Given the description of an element on the screen output the (x, y) to click on. 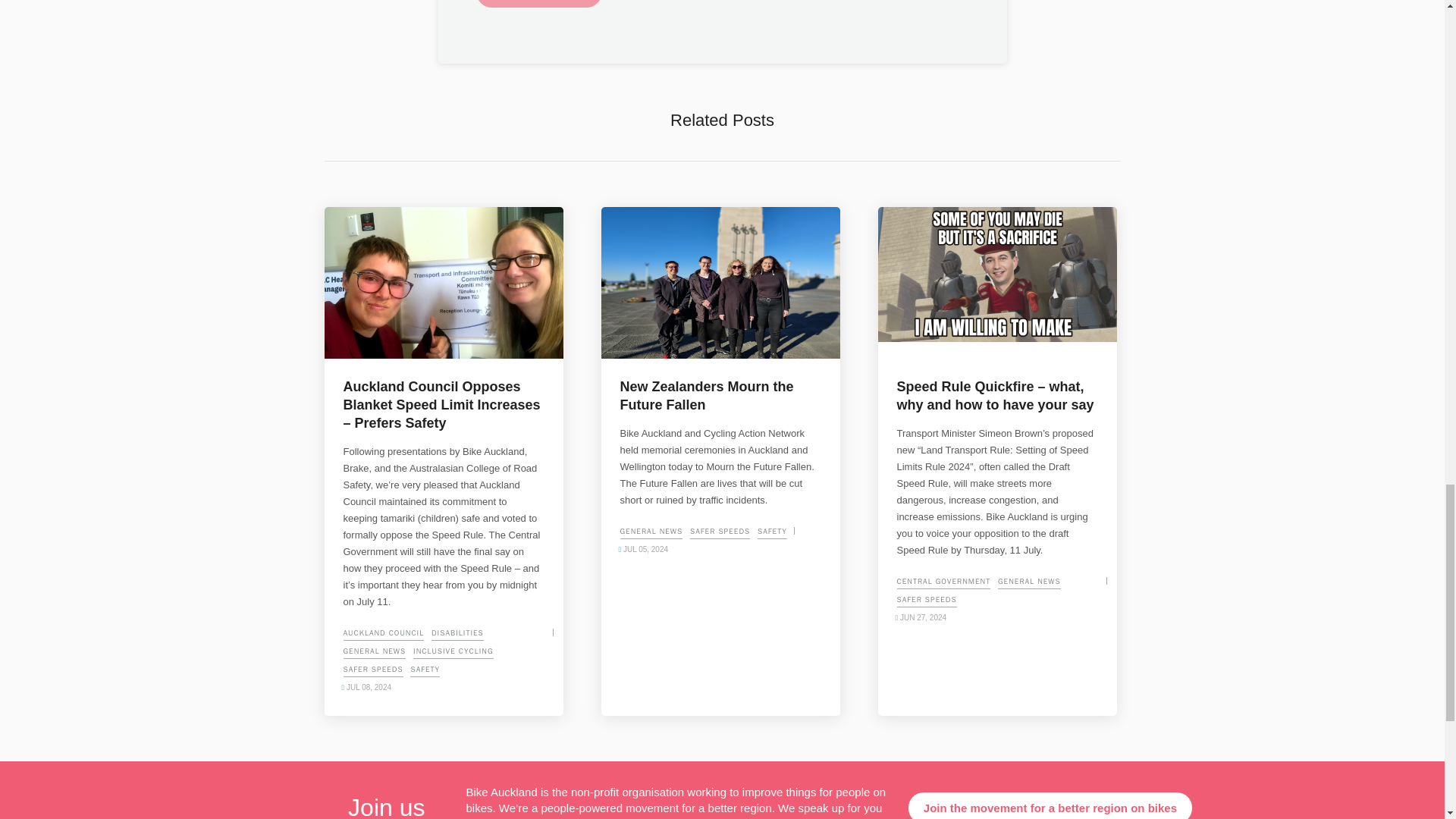
New Zealanders Mourn the Future Fallen (720, 395)
Subscribe (539, 3)
New Zealanders Mourn the Future Fallen (719, 282)
